Given the description of an element on the screen output the (x, y) to click on. 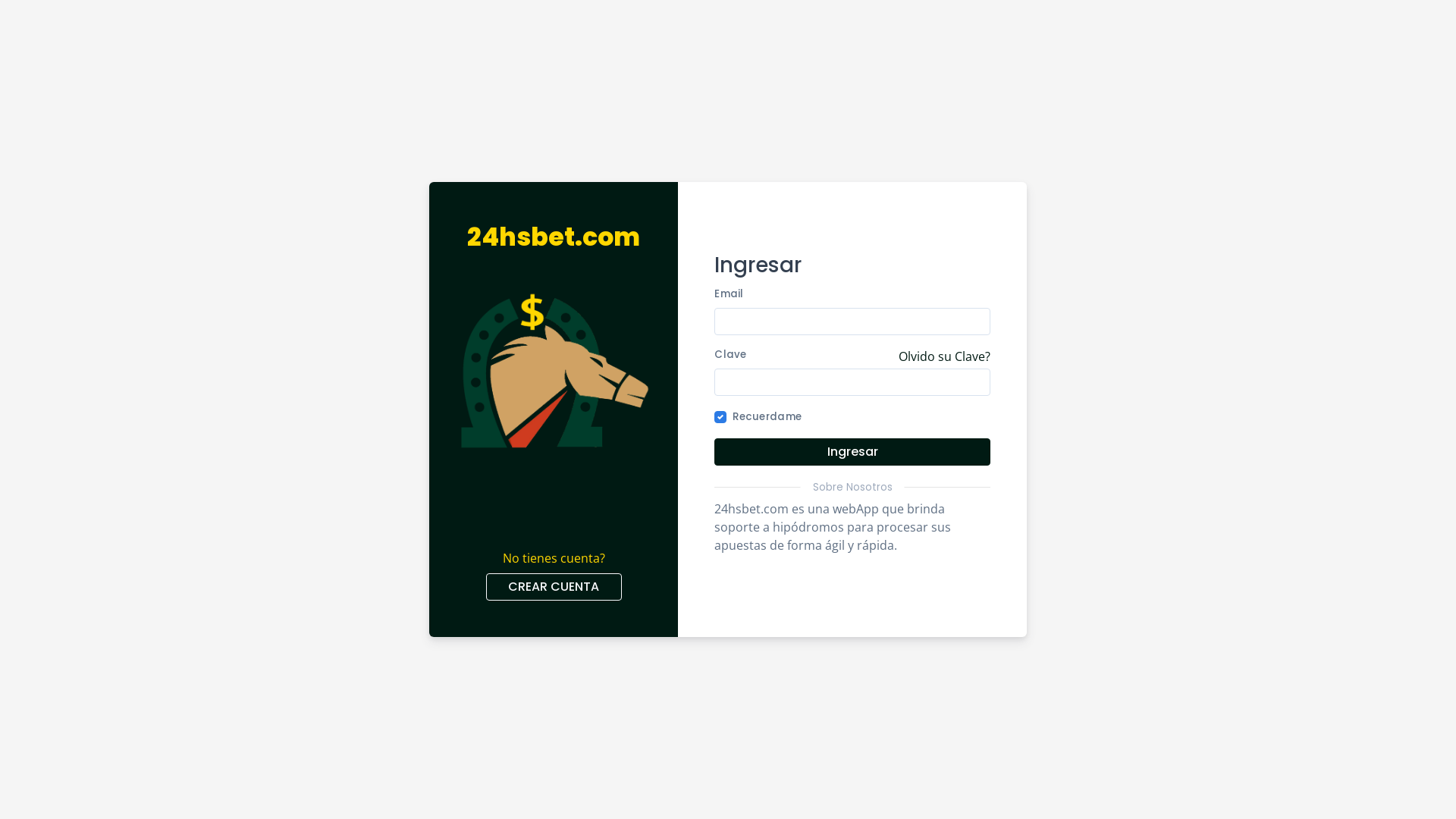
24hsbet.com Element type: text (553, 237)
Ingresar Element type: text (851, 451)
CREAR CUENTA Element type: text (554, 586)
Olvido su Clave? Element type: text (944, 357)
